Given the description of an element on the screen output the (x, y) to click on. 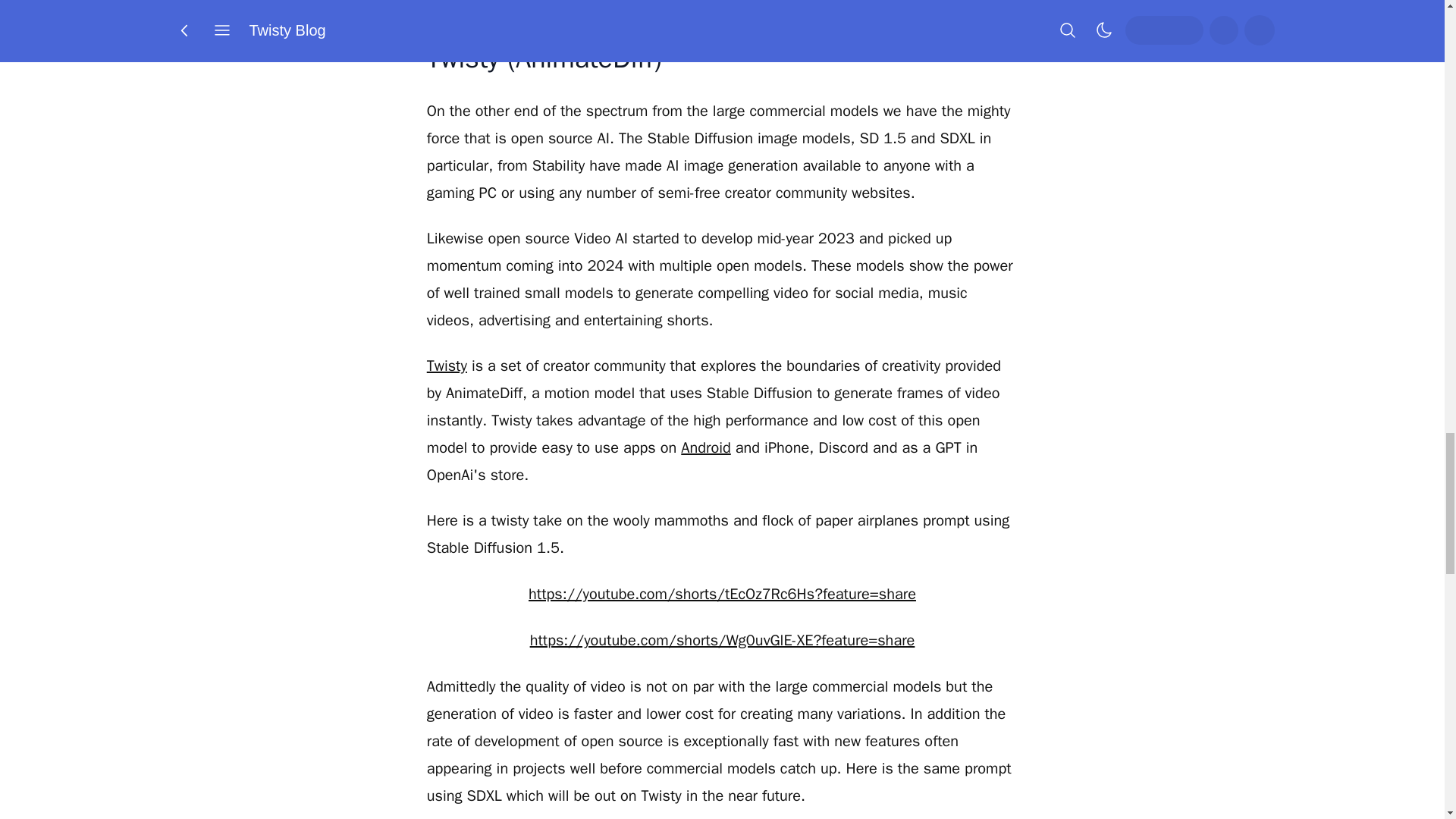
Twisty (446, 365)
Android (705, 447)
